Given the description of an element on the screen output the (x, y) to click on. 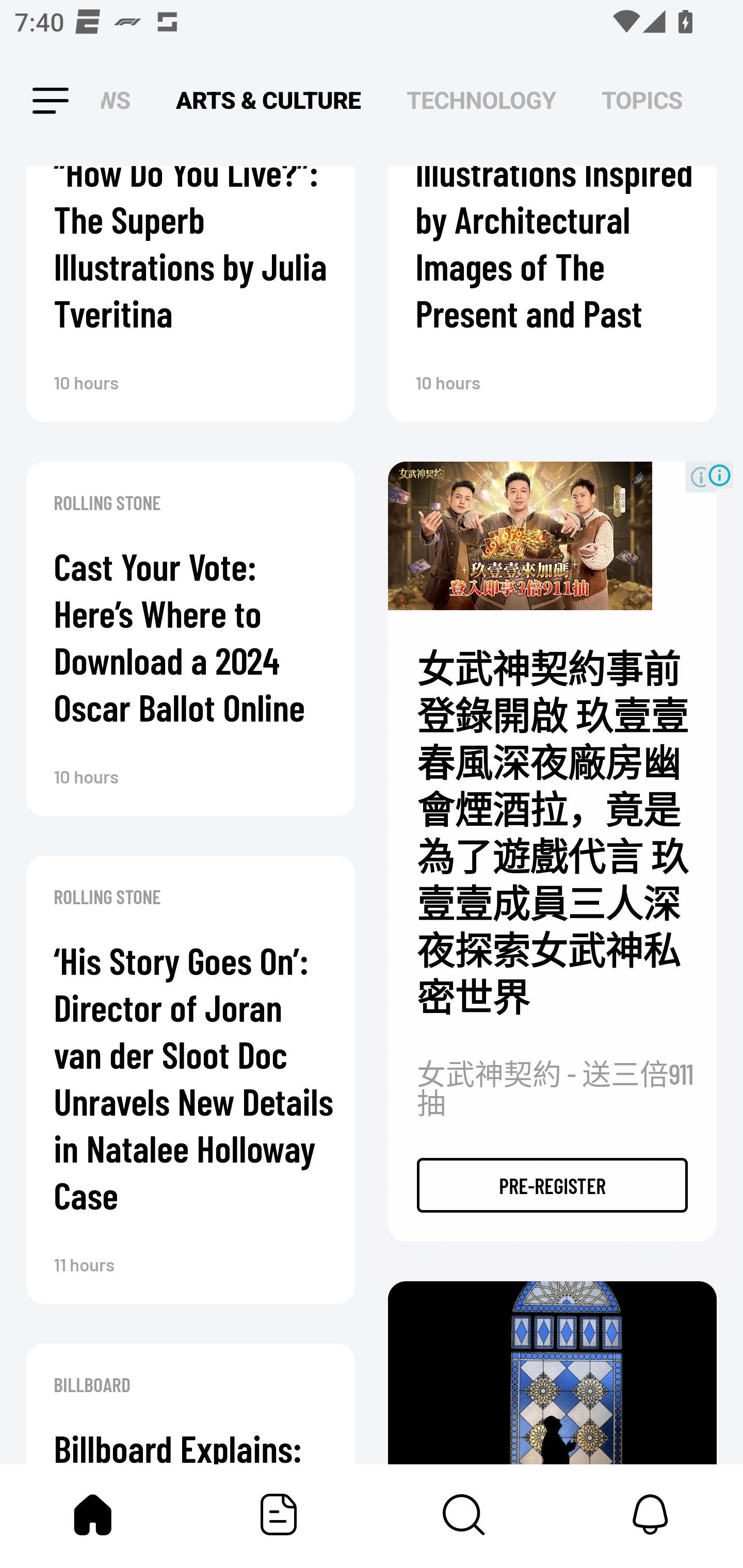
NEWS (121, 100)
TECHNOLOGY (481, 100)
TOPICS (641, 100)
Ad Choices Icon (719, 474)
Featured (278, 1514)
Content Store (464, 1514)
Notifications (650, 1514)
